Given the description of an element on the screen output the (x, y) to click on. 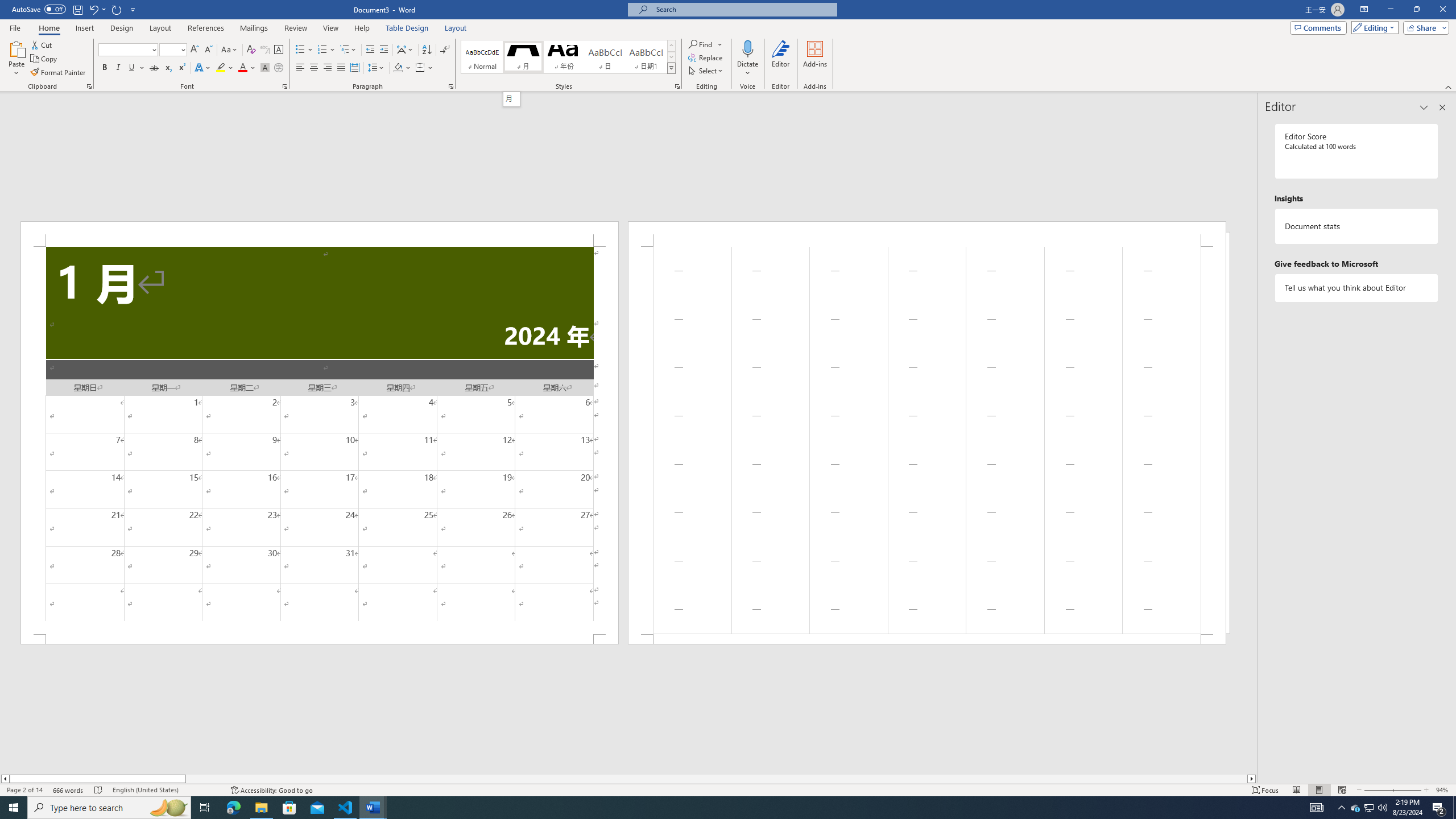
Row up (670, 45)
Column left (5, 778)
Center (313, 67)
Superscript (180, 67)
Cut (42, 44)
Spelling and Grammar Check No Errors (98, 790)
AutomationID: QuickStylesGallery (568, 56)
